Given the description of an element on the screen output the (x, y) to click on. 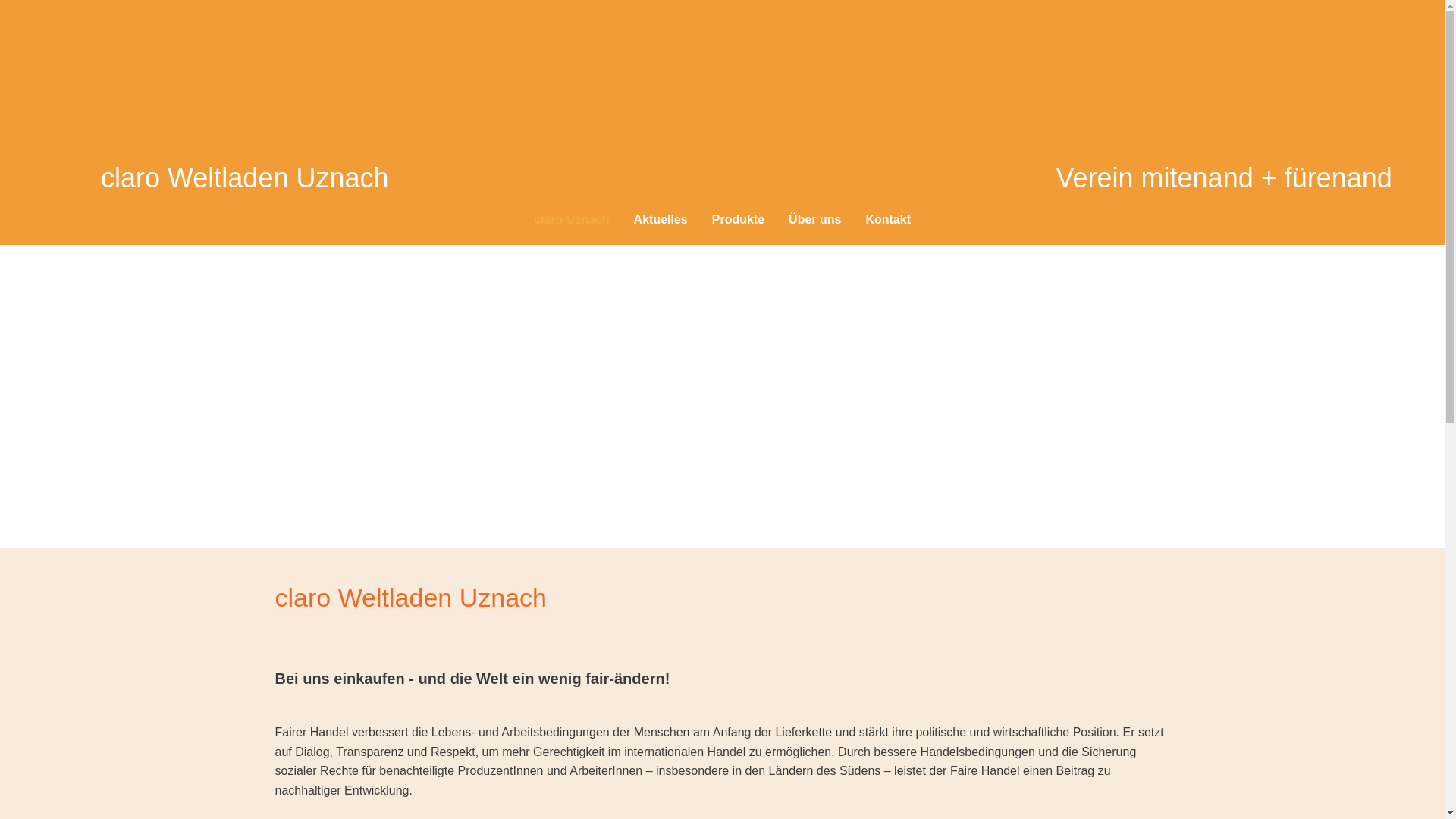
Aktuelles Element type: text (660, 219)
claro Uznach Element type: text (565, 219)
Produkte Element type: text (737, 219)
Kontakt Element type: text (894, 219)
